Given the description of an element on the screen output the (x, y) to click on. 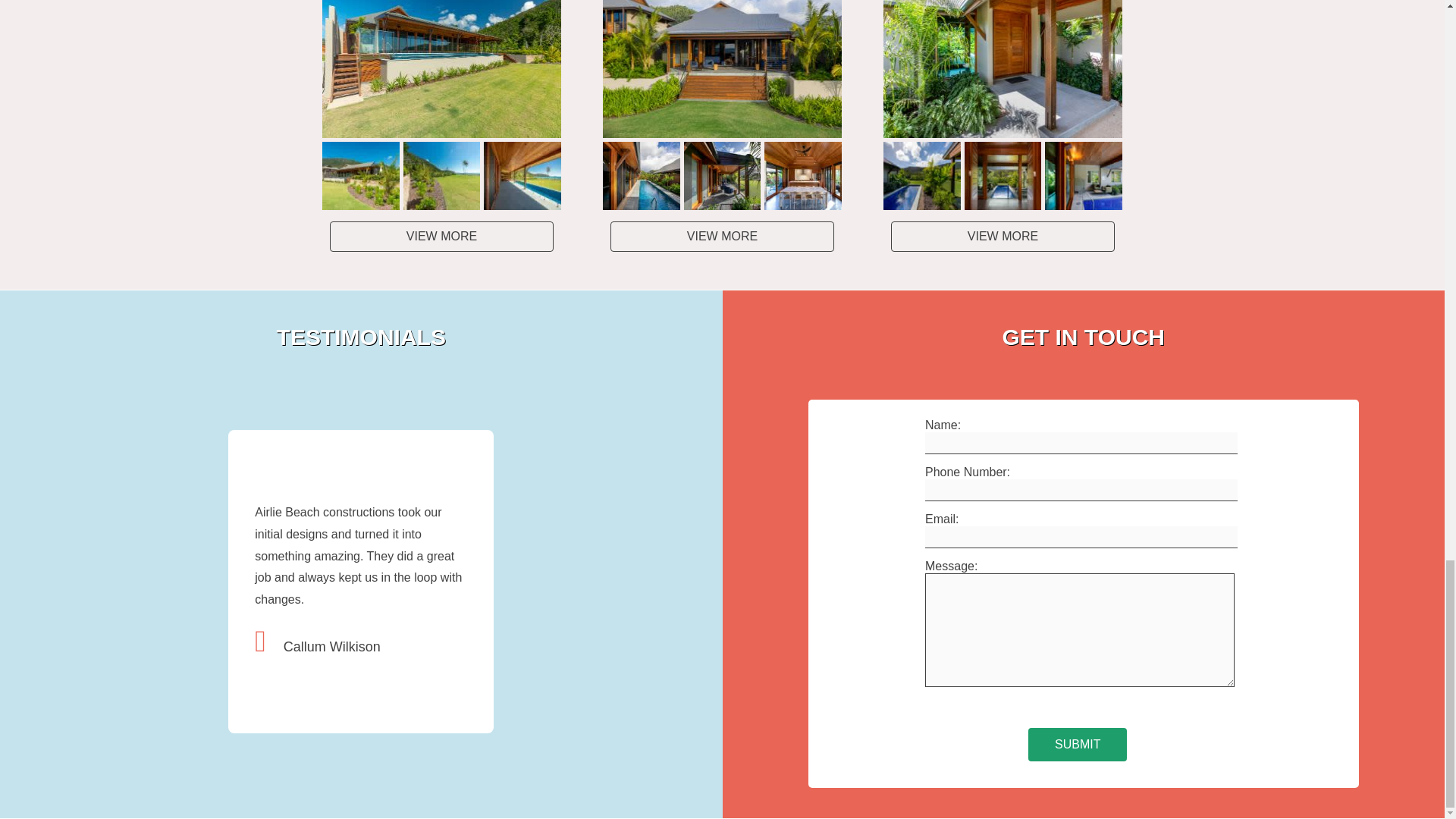
VIEW MORE (441, 236)
VIEW MORE (1003, 236)
VIEW MORE (722, 236)
VIEW MORE (441, 236)
VIEW MORE (1003, 236)
VIEW MORE (722, 236)
SUBMIT (1076, 744)
